Given the description of an element on the screen output the (x, y) to click on. 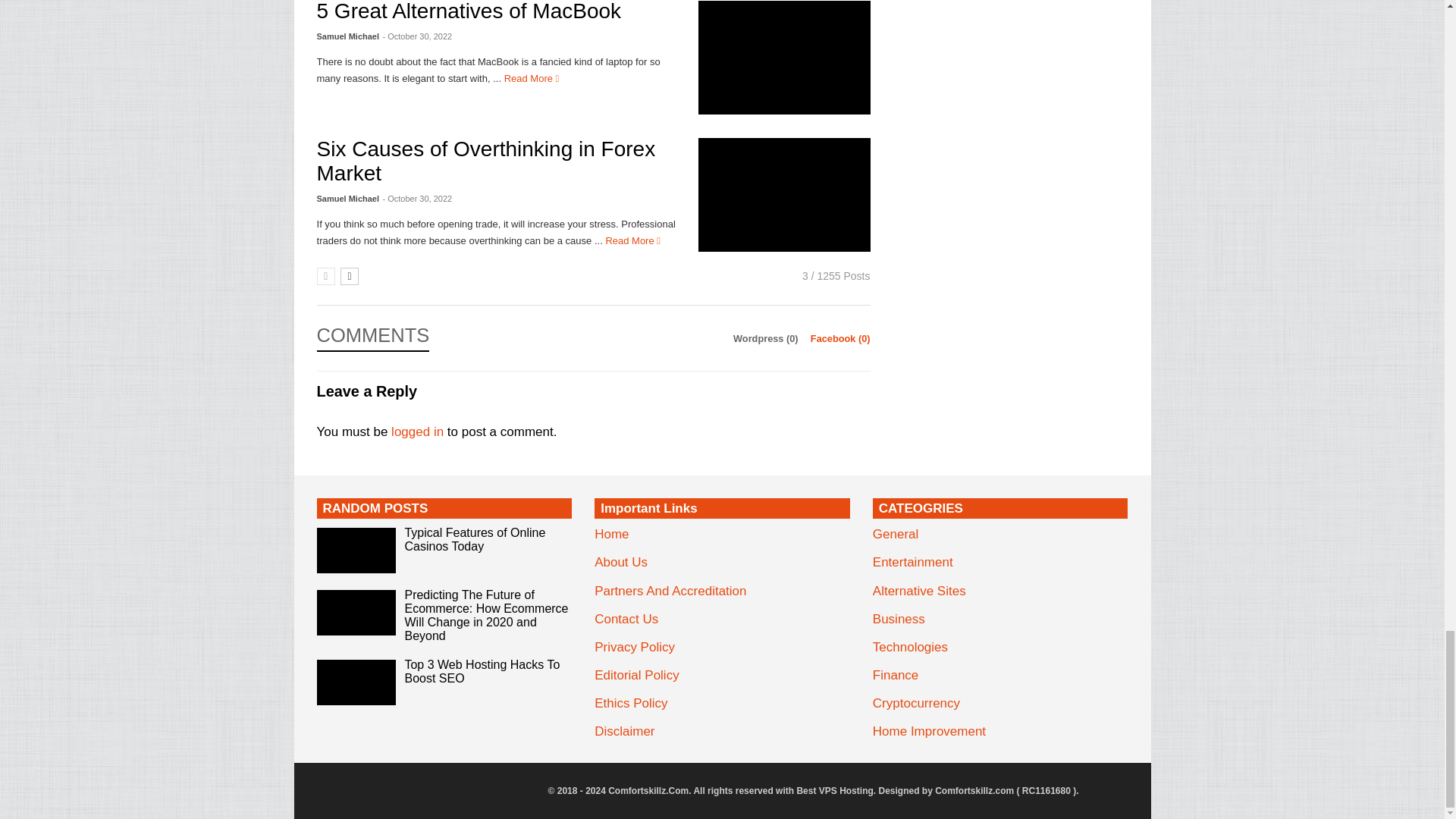
5 Great Alternatives of MacBook (531, 78)
Six Causes of Overthinking in Forex Market (486, 161)
Six Causes of Overthinking in Forex Market (783, 194)
5 Great Alternatives of MacBook (469, 11)
5 Great Alternatives of MacBook (783, 57)
